Given the description of an element on the screen output the (x, y) to click on. 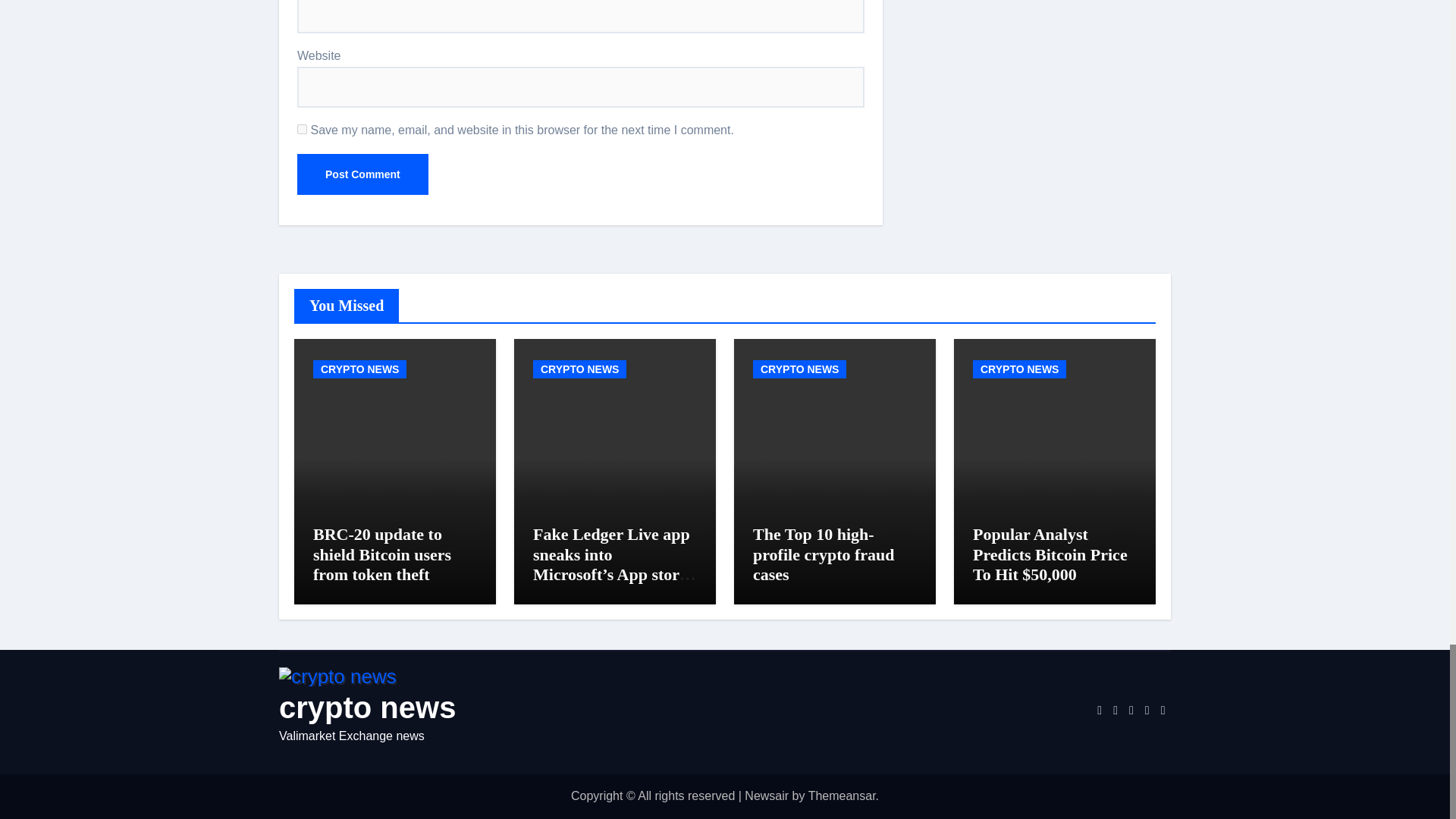
Post Comment (362, 173)
yes (302, 129)
